Given the description of an element on the screen output the (x, y) to click on. 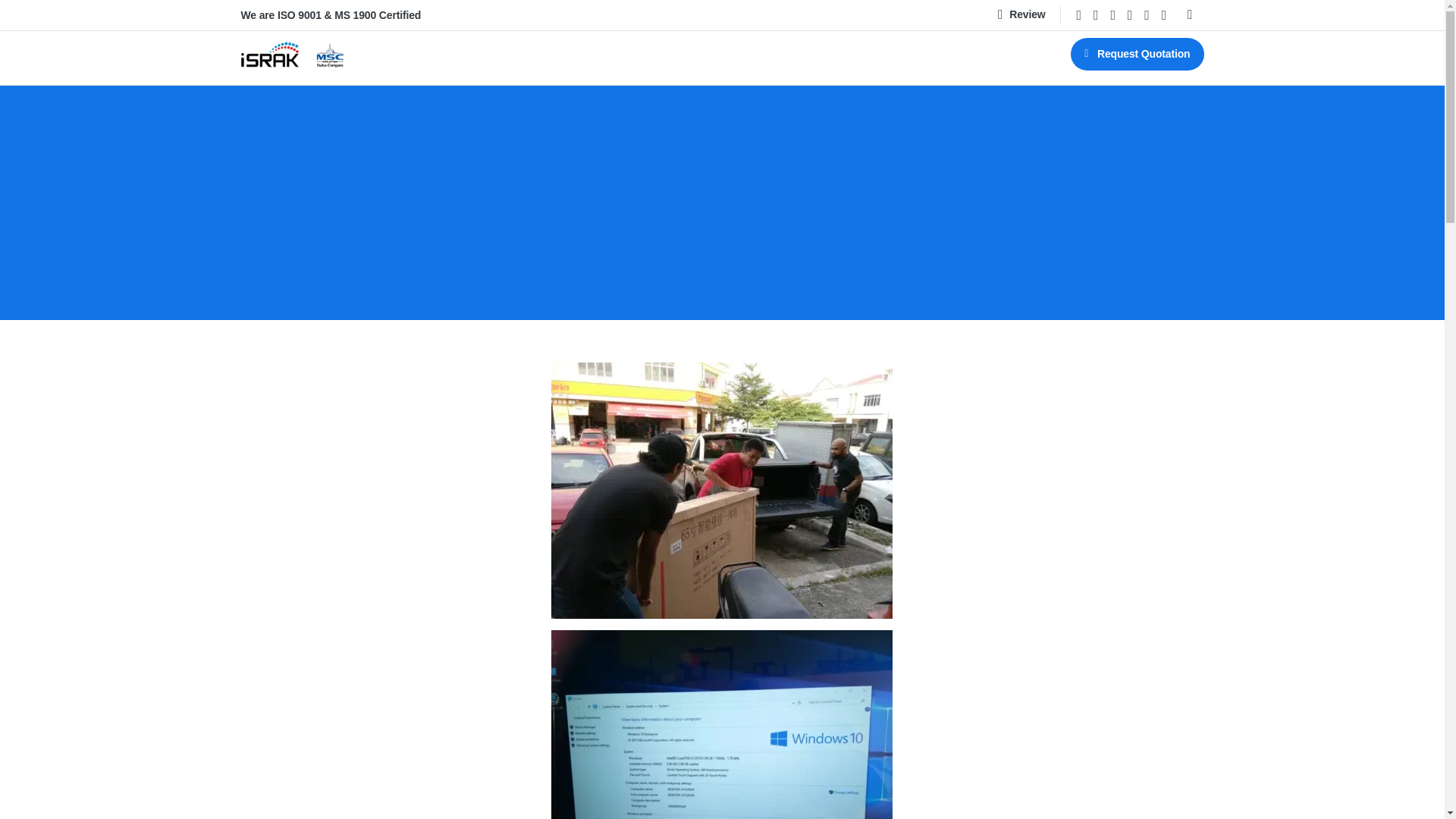
TikTok (1164, 15)
YouTube (1112, 15)
LinkedIn (1129, 15)
Review (1021, 15)
Facebook (1078, 15)
X (1095, 15)
Instagram (1146, 15)
